Given the description of an element on the screen output the (x, y) to click on. 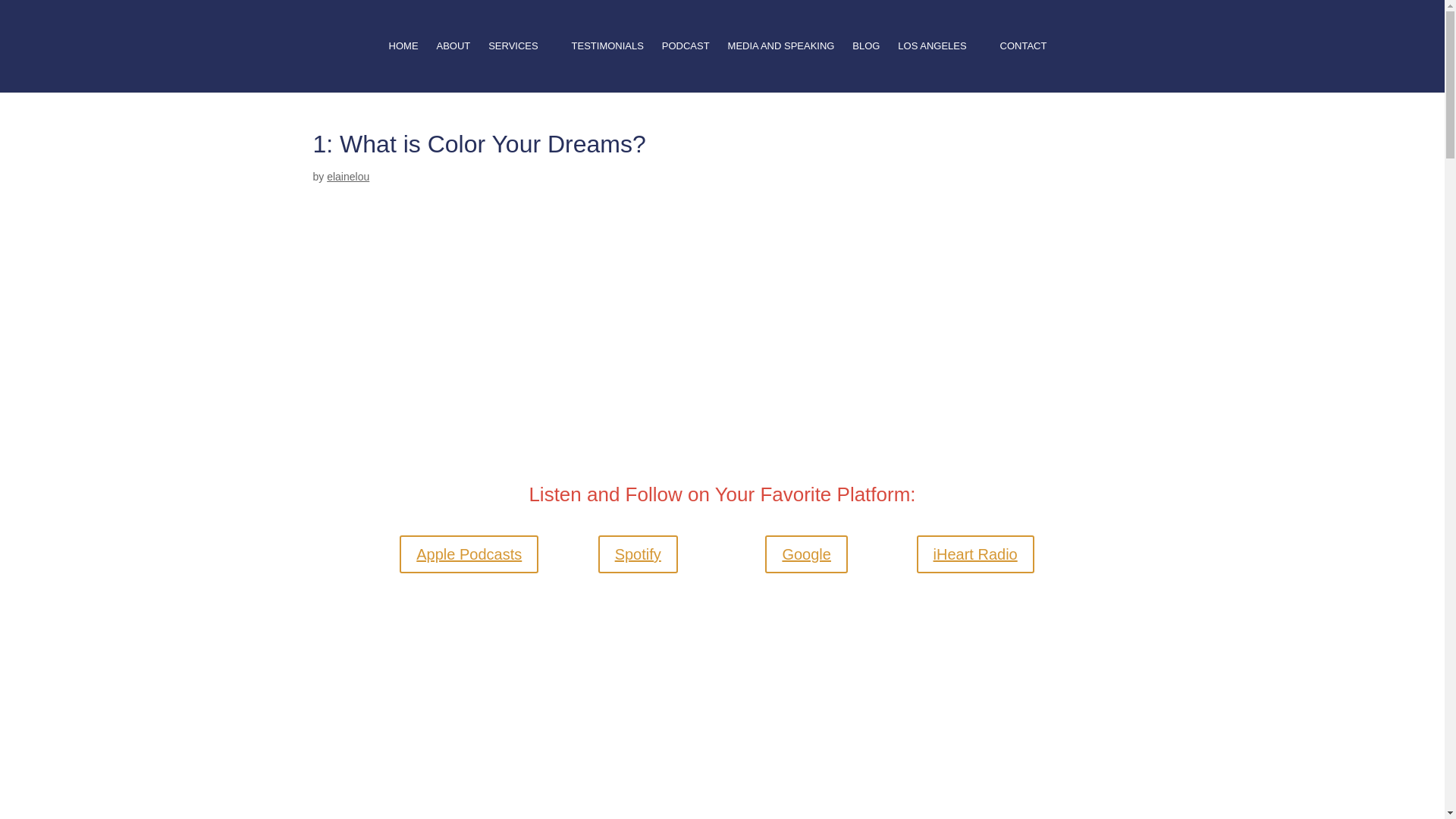
Google (806, 554)
LOS ANGELES (939, 64)
SERVICES (520, 64)
Apple Podcasts (468, 554)
elainelou (347, 176)
CONTACT (1023, 64)
PODCAST (686, 64)
MEDIA AND SPEAKING (781, 64)
Color Your Dreams, What is Color Your Dreams? (721, 390)
Posts by elainelou (347, 176)
iHeart Radio (975, 554)
TESTIMONIALS (607, 64)
Spotify (638, 554)
